Given the description of an element on the screen output the (x, y) to click on. 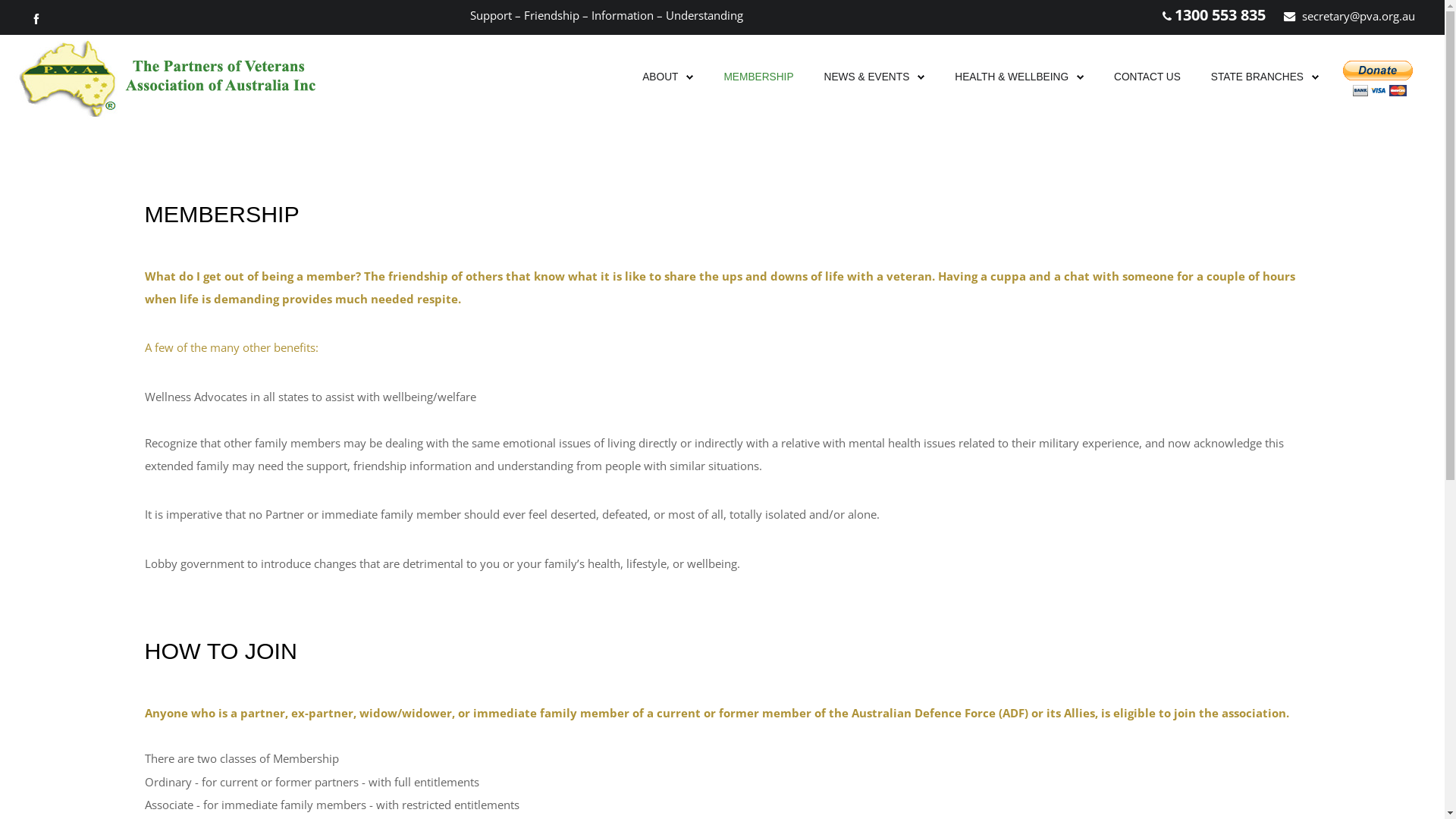
STATE BRANCHES Element type: text (1264, 76)
HEALTH & WELLBEING Element type: text (1018, 76)
CONTACT US Element type: text (1146, 76)
ABOUT Element type: text (667, 76)
MEMBERSHIP Element type: text (758, 76)
NEWS & EVENTS Element type: text (874, 76)
1300 553 835 Element type: text (1219, 14)
STATE BRANCHES Element type: text (1257, 76)
PayPal - The safer, easier way to pay online! Element type: hover (1378, 78)
MEMBERSHIP Element type: text (758, 76)
HEALTH & WELLBEING Element type: text (1011, 76)
CONTACT US Element type: text (1146, 76)
secretary@pva.org.au Element type: text (1358, 15)
NEWS & EVENTS Element type: text (867, 76)
ABOUT Element type: text (659, 76)
